Given the description of an element on the screen output the (x, y) to click on. 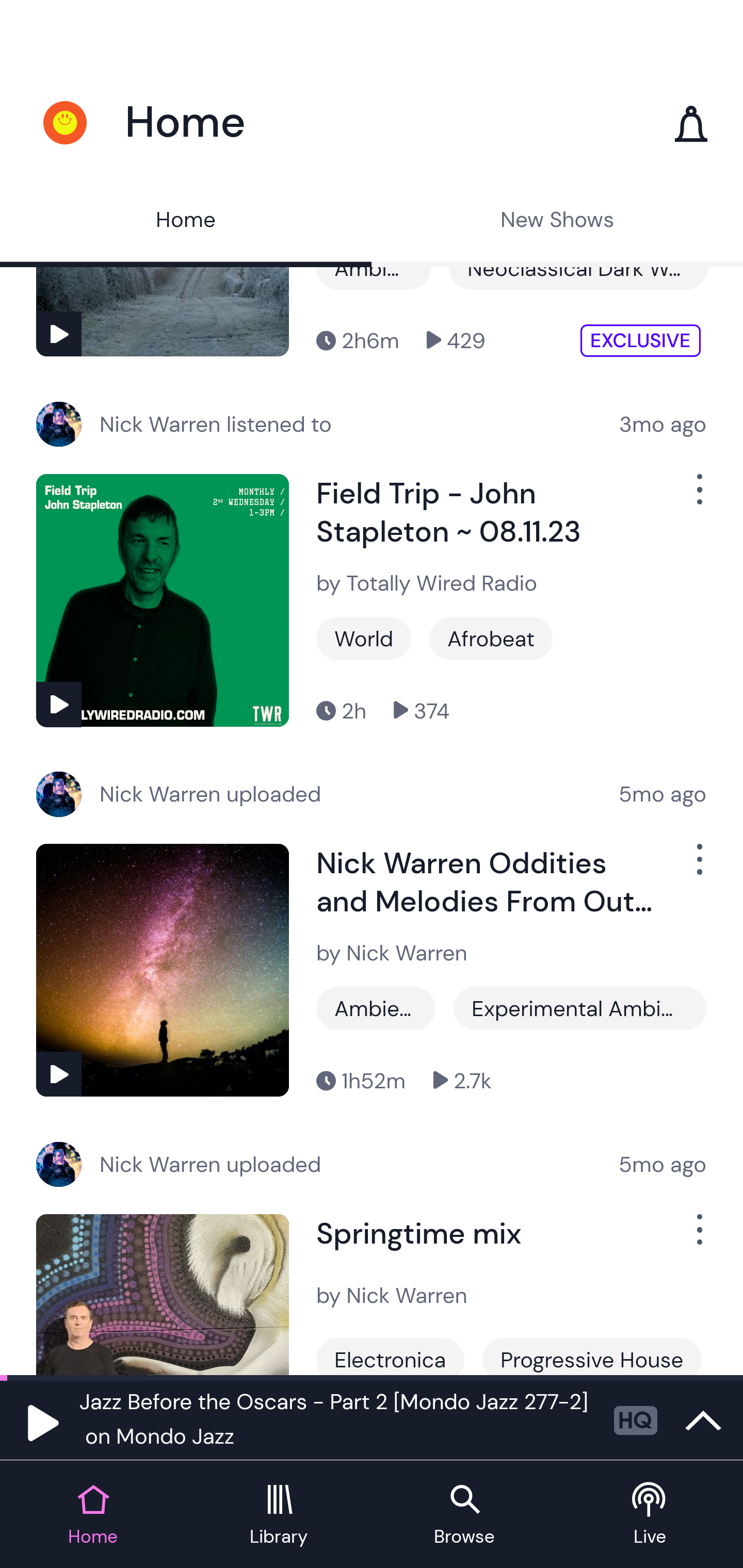
Home (185, 221)
New Shows (557, 221)
Show Options Menu Button (697, 496)
World (363, 638)
Afrobeat (490, 638)
Show Options Menu Button (697, 866)
Ambient (375, 1008)
Experimental Ambient (579, 1008)
Show Options Menu Button (697, 1236)
Electronica (390, 1356)
Progressive House (591, 1356)
Home tab Home (92, 1515)
Library tab Library (278, 1515)
Browse tab Browse (464, 1515)
Live tab Live (650, 1515)
